Given the description of an element on the screen output the (x, y) to click on. 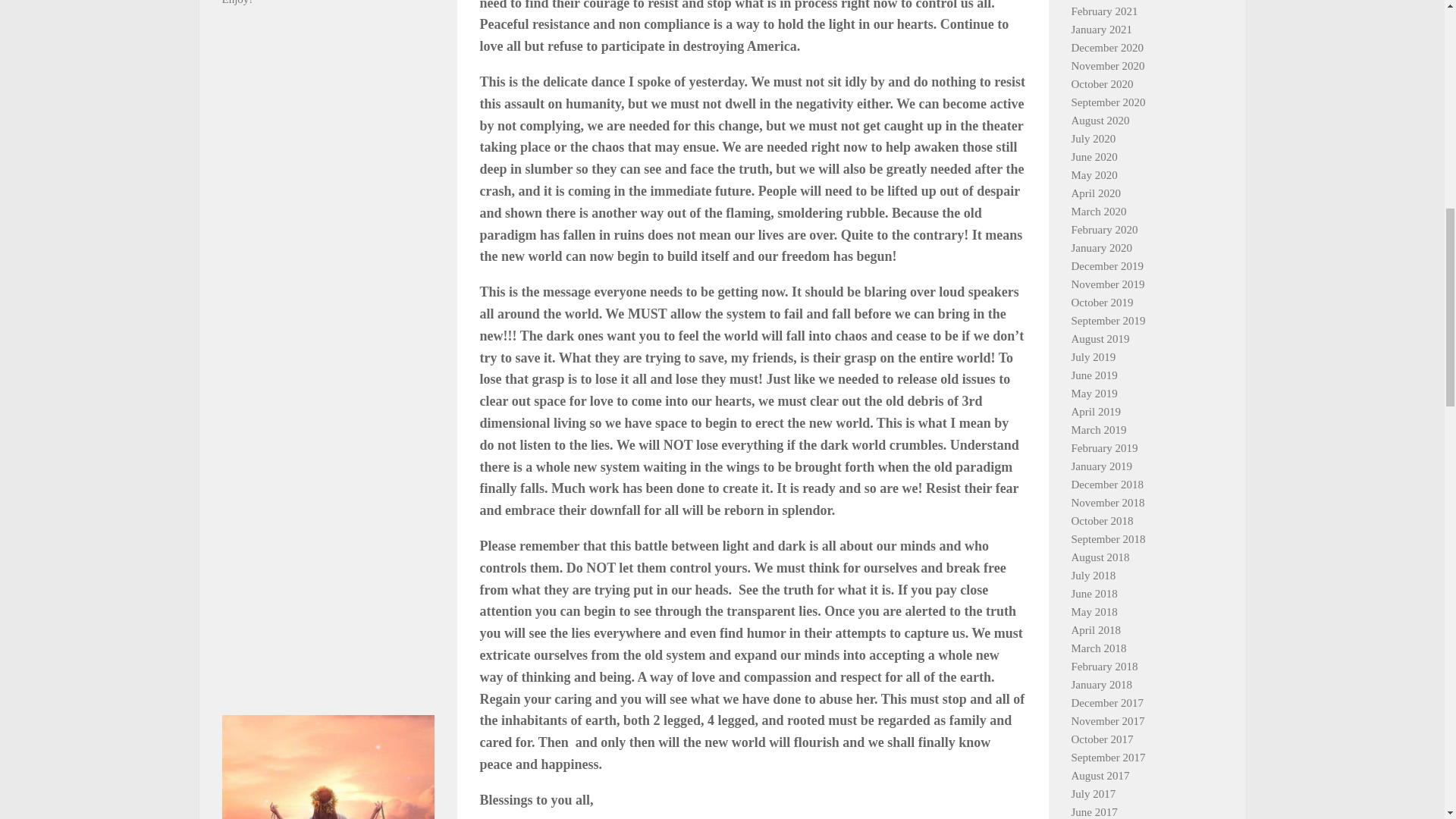
Big Pharma exec turned Whistleblower (327, 597)
